Given the description of an element on the screen output the (x, y) to click on. 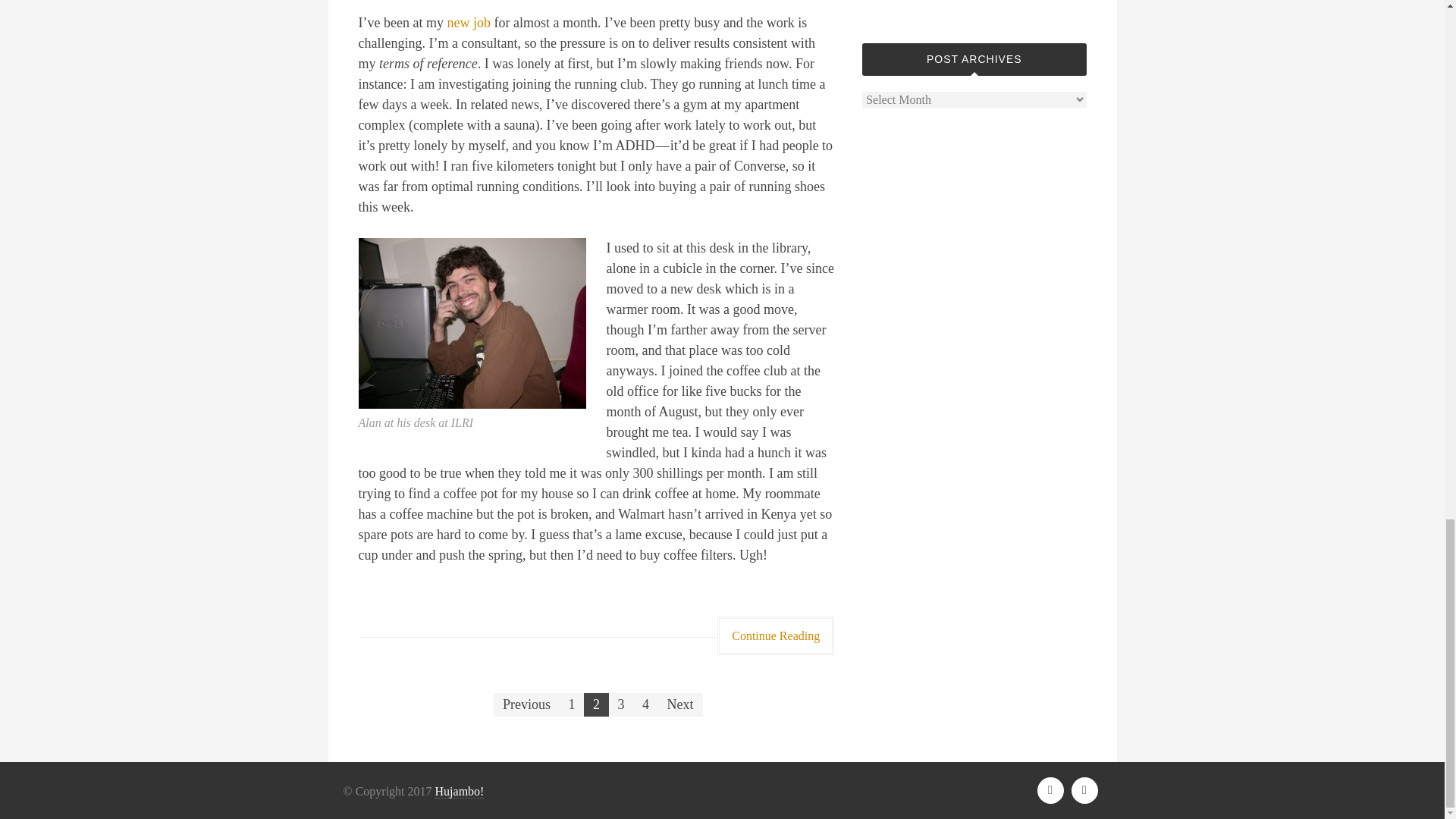
Continue Reading (775, 635)
I got a new job (468, 22)
3 (620, 704)
new job (468, 22)
1 (572, 704)
Next (680, 704)
4 (645, 704)
Previous (526, 704)
